Given the description of an element on the screen output the (x, y) to click on. 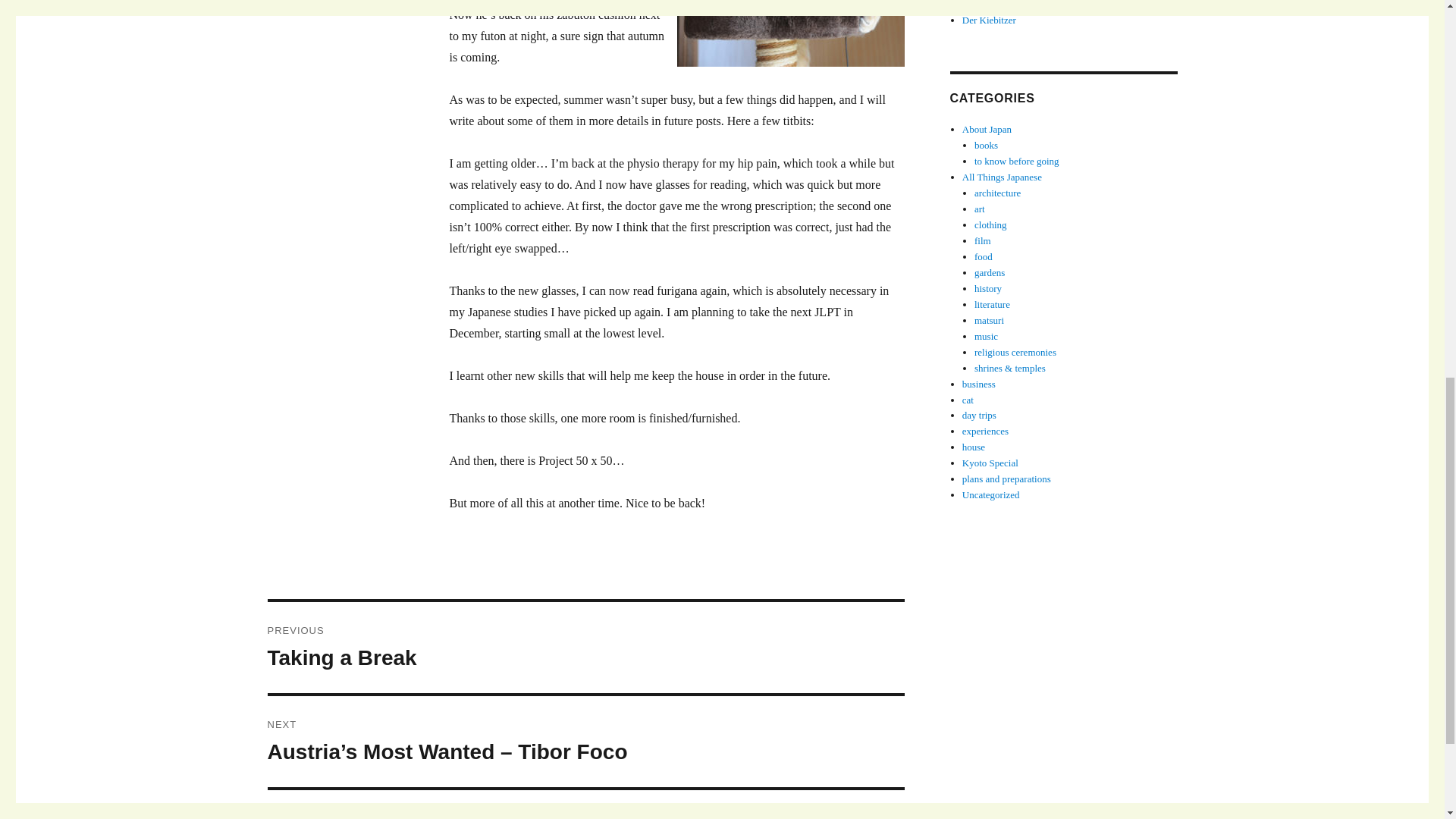
art (979, 208)
literature (992, 304)
day trips (978, 414)
religious ceremonies (1015, 351)
clothing (990, 224)
Writers in Kyoto (995, 4)
food (983, 256)
business (978, 383)
gardens (989, 272)
All Things Japanese (1002, 176)
matsuri (989, 319)
Der Kiebitzer (989, 19)
to know before going (1016, 161)
About Japan (986, 129)
books (985, 144)
